Given the description of an element on the screen output the (x, y) to click on. 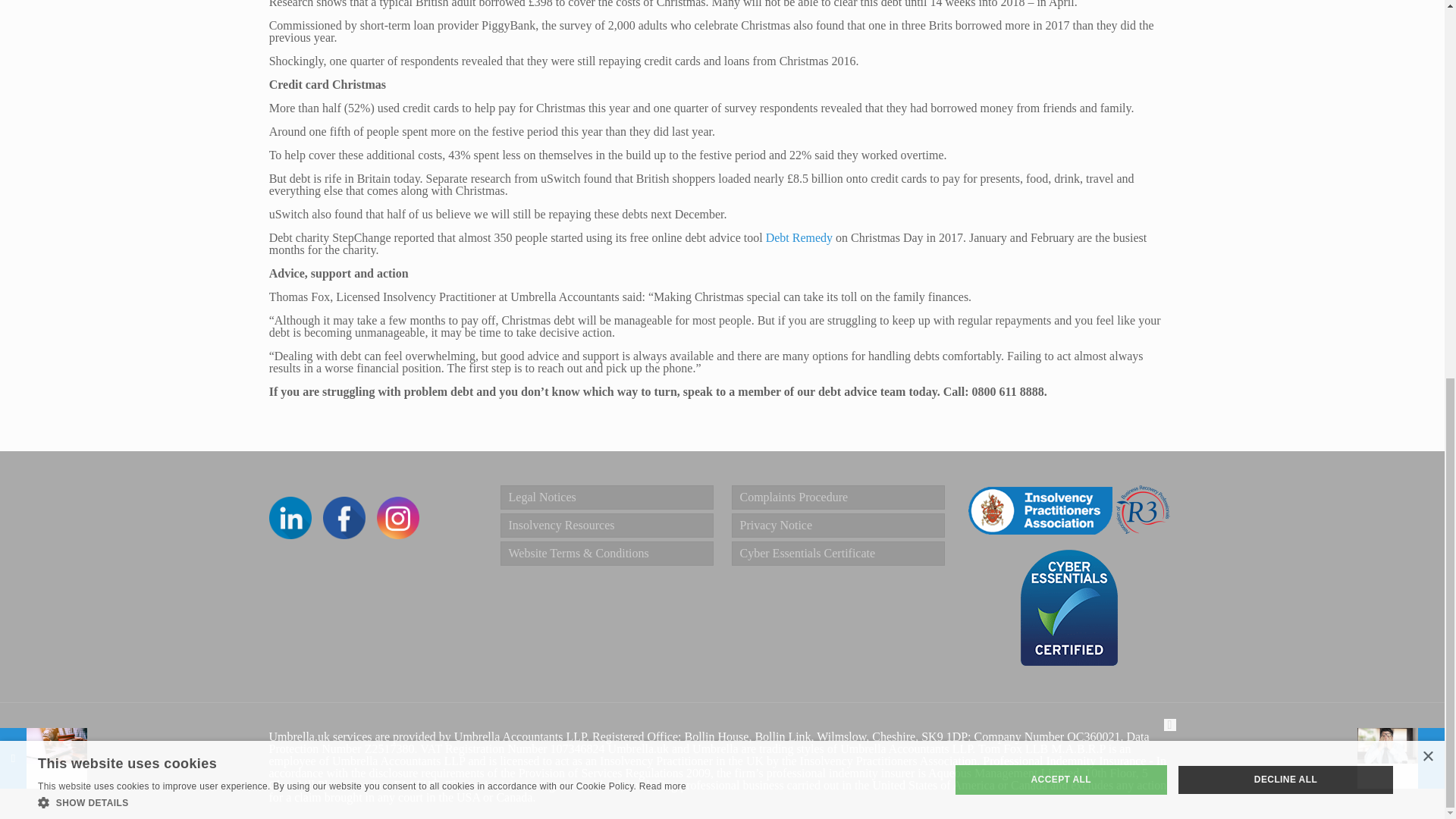
Debt Remedy (798, 237)
